Given the description of an element on the screen output the (x, y) to click on. 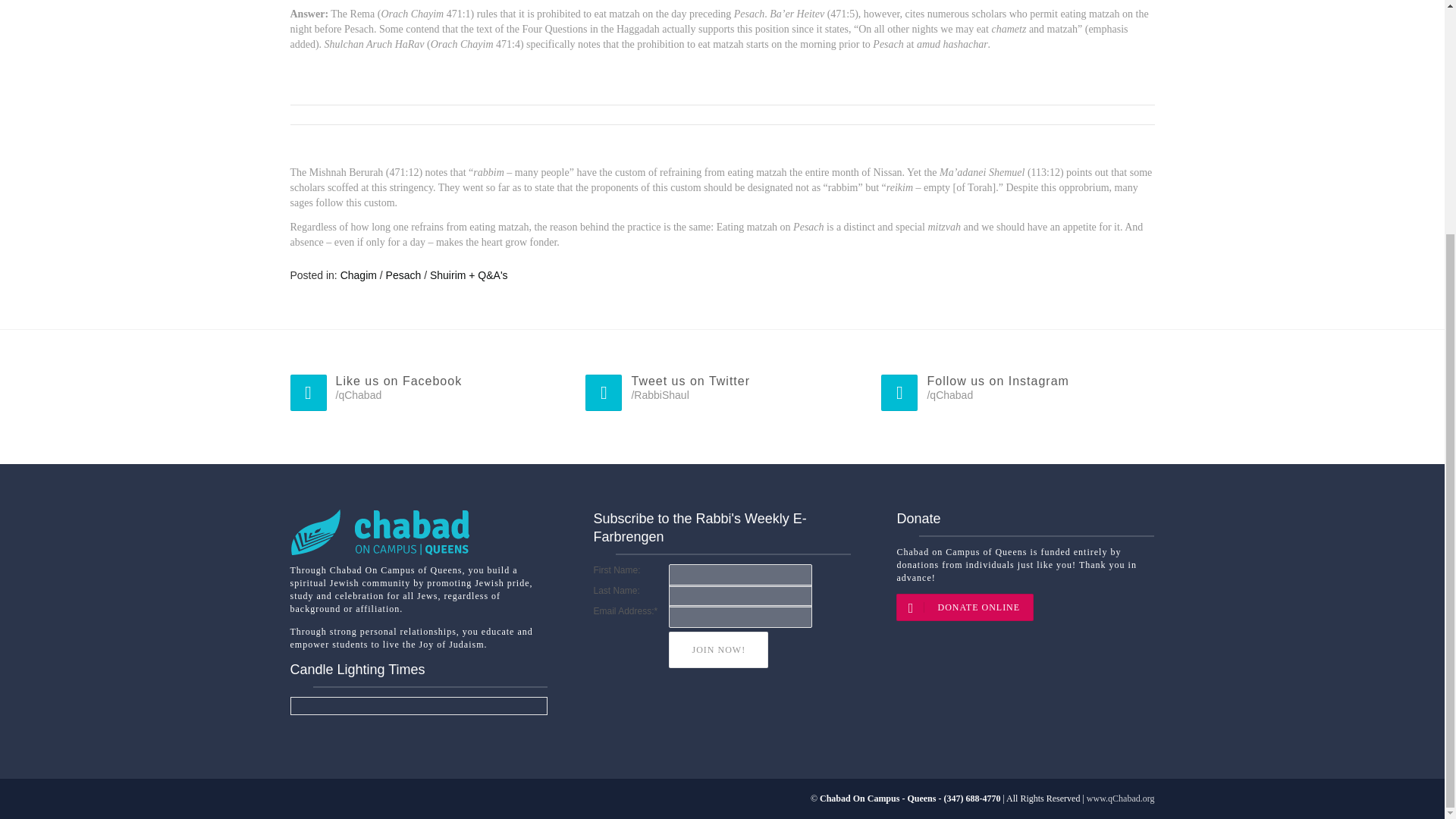
Join now! (718, 649)
